Given the description of an element on the screen output the (x, y) to click on. 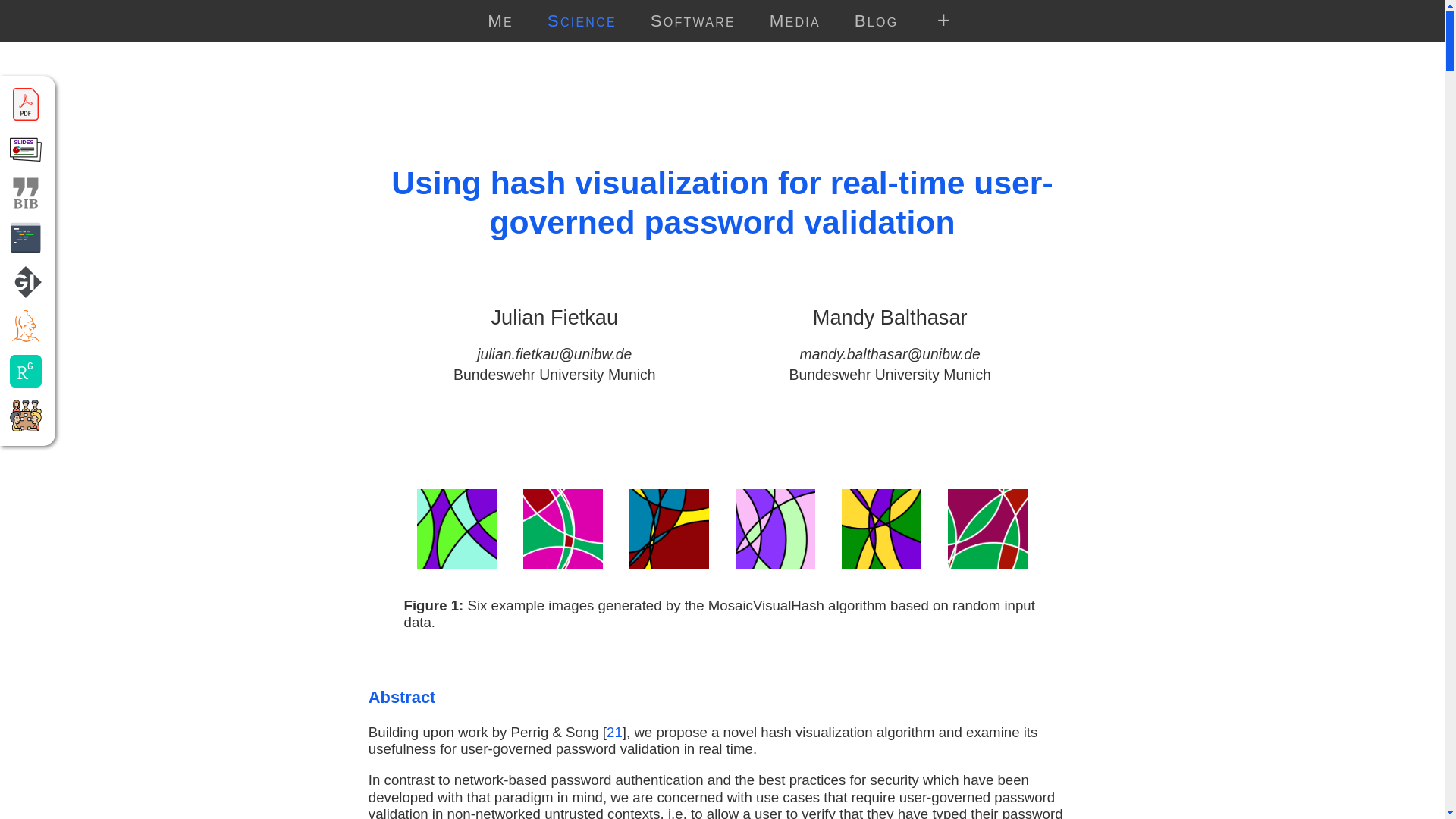
Blog (875, 20)
See also: ResearchGate (26, 370)
21 (615, 731)
Science (581, 20)
See also: Corresponding Software (26, 237)
Software (692, 20)
Me (500, 20)
Media (794, 20)
View slides (26, 148)
See also: Workshop (26, 415)
